Given the description of an element on the screen output the (x, y) to click on. 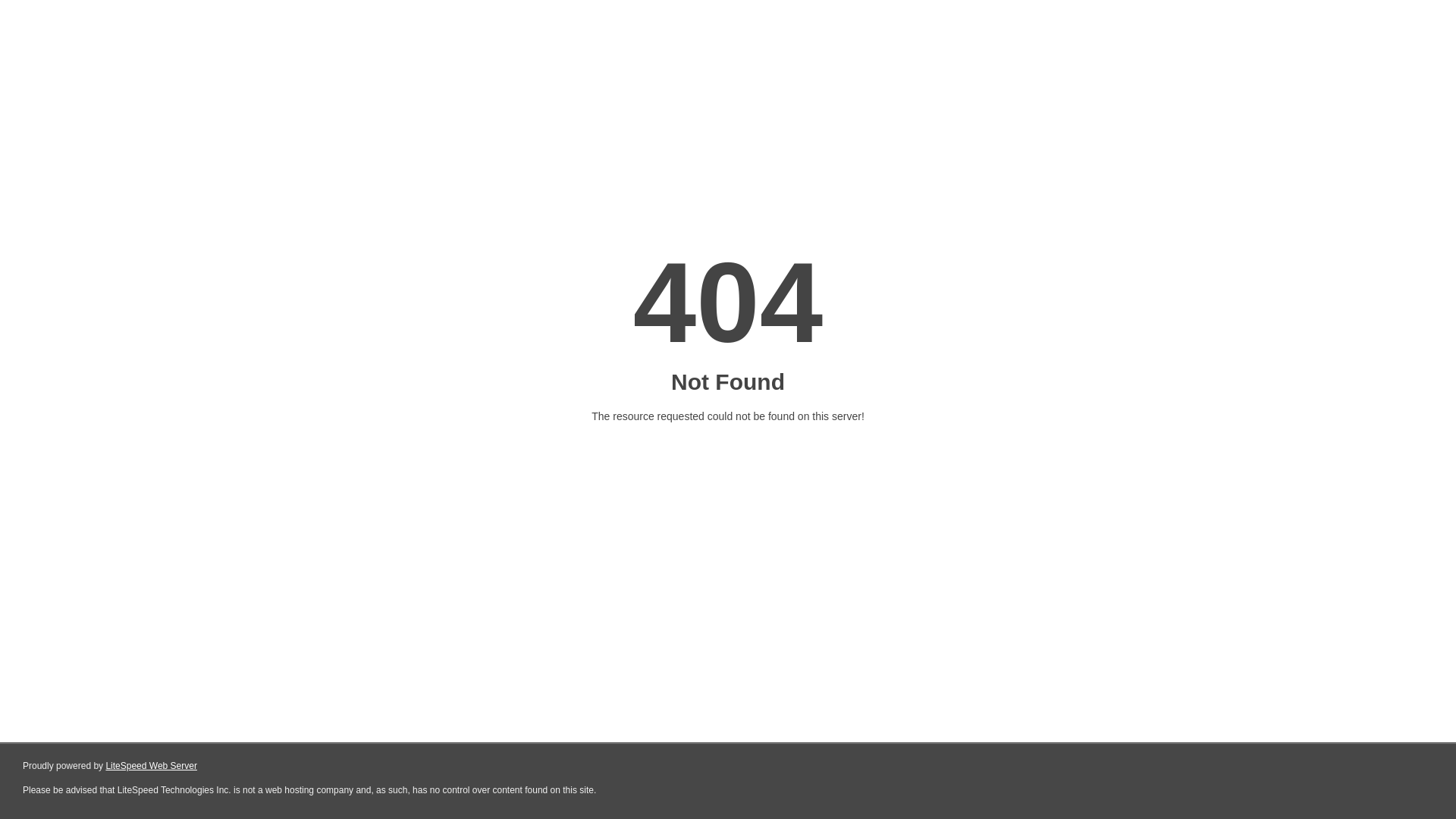
LiteSpeed Web Server Element type: text (151, 765)
